Given the description of an element on the screen output the (x, y) to click on. 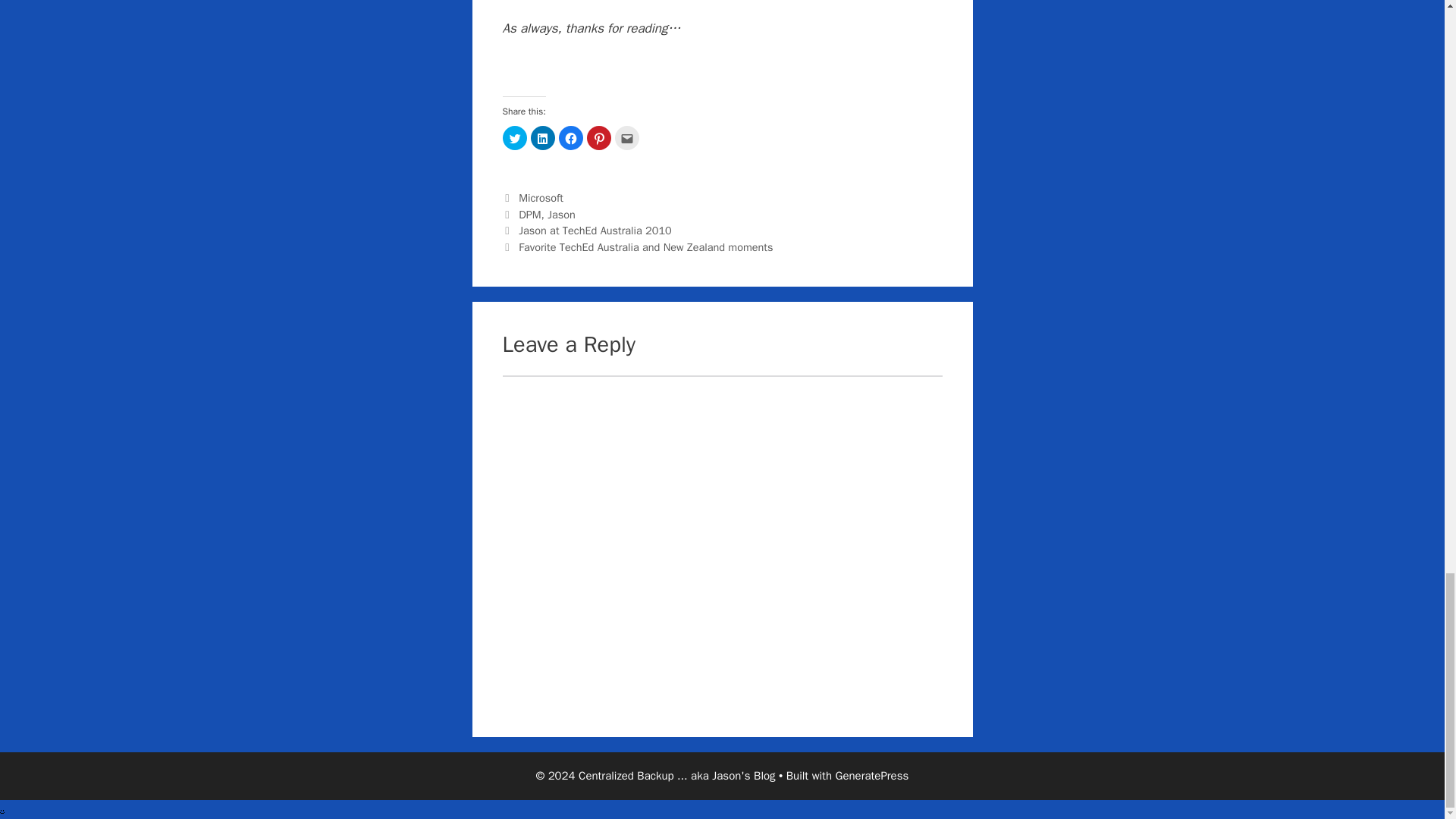
Click to share on LinkedIn (542, 137)
DPM (529, 214)
Jason at TechEd Australia 2010 (594, 230)
Favorite TechEd Australia and New Zealand moments (645, 246)
Microsoft (540, 197)
Jason (561, 214)
Click to share on Facebook (569, 137)
Click to share on Twitter (513, 137)
